Given the description of an element on the screen output the (x, y) to click on. 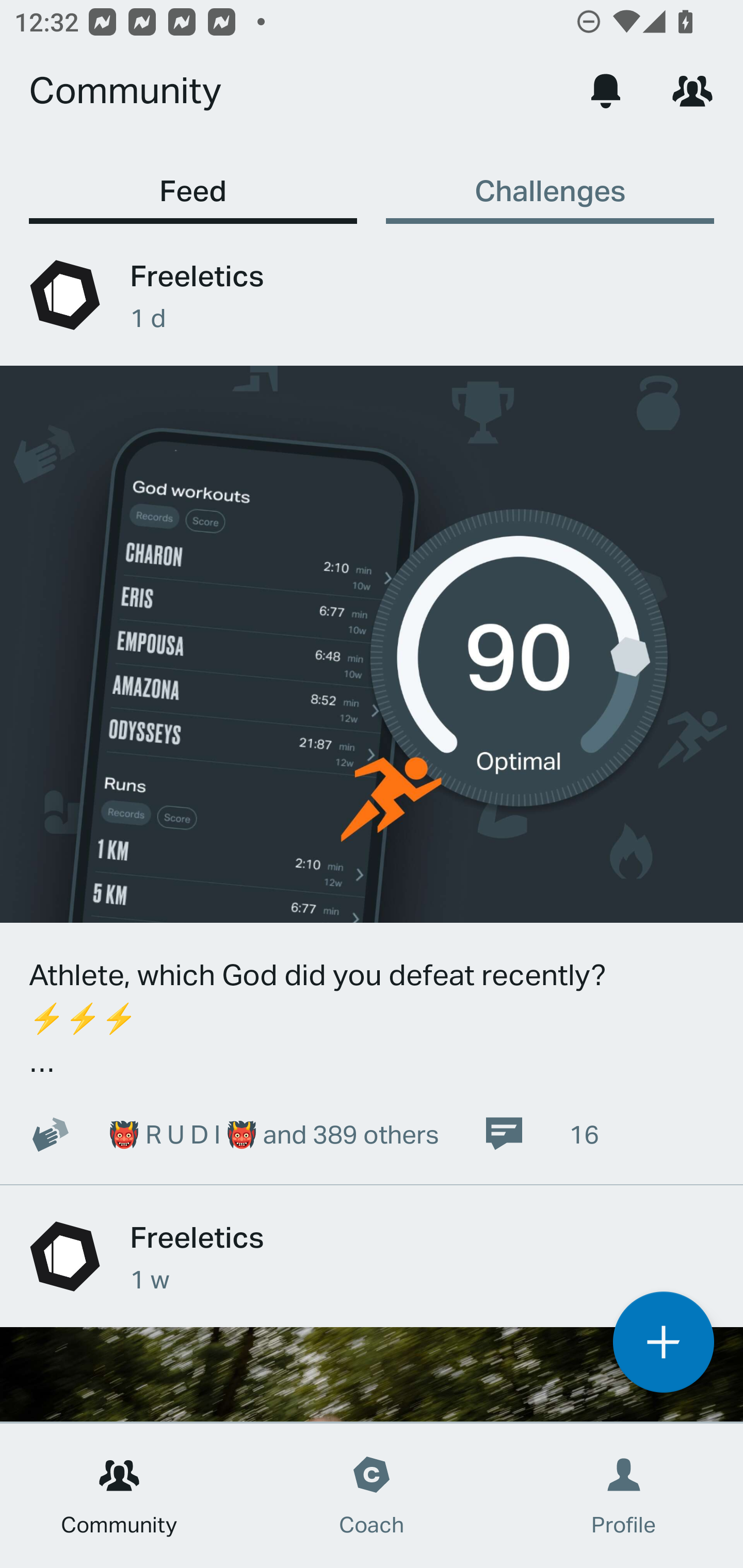
Notifications (605, 90)
Network (692, 90)
Feed (192, 180)
Challenges (549, 180)
👹 R U D I 👹 and 389 others (223, 1133)
16 (540, 1133)
Coach (371, 1495)
Profile (624, 1495)
